Given the description of an element on the screen output the (x, y) to click on. 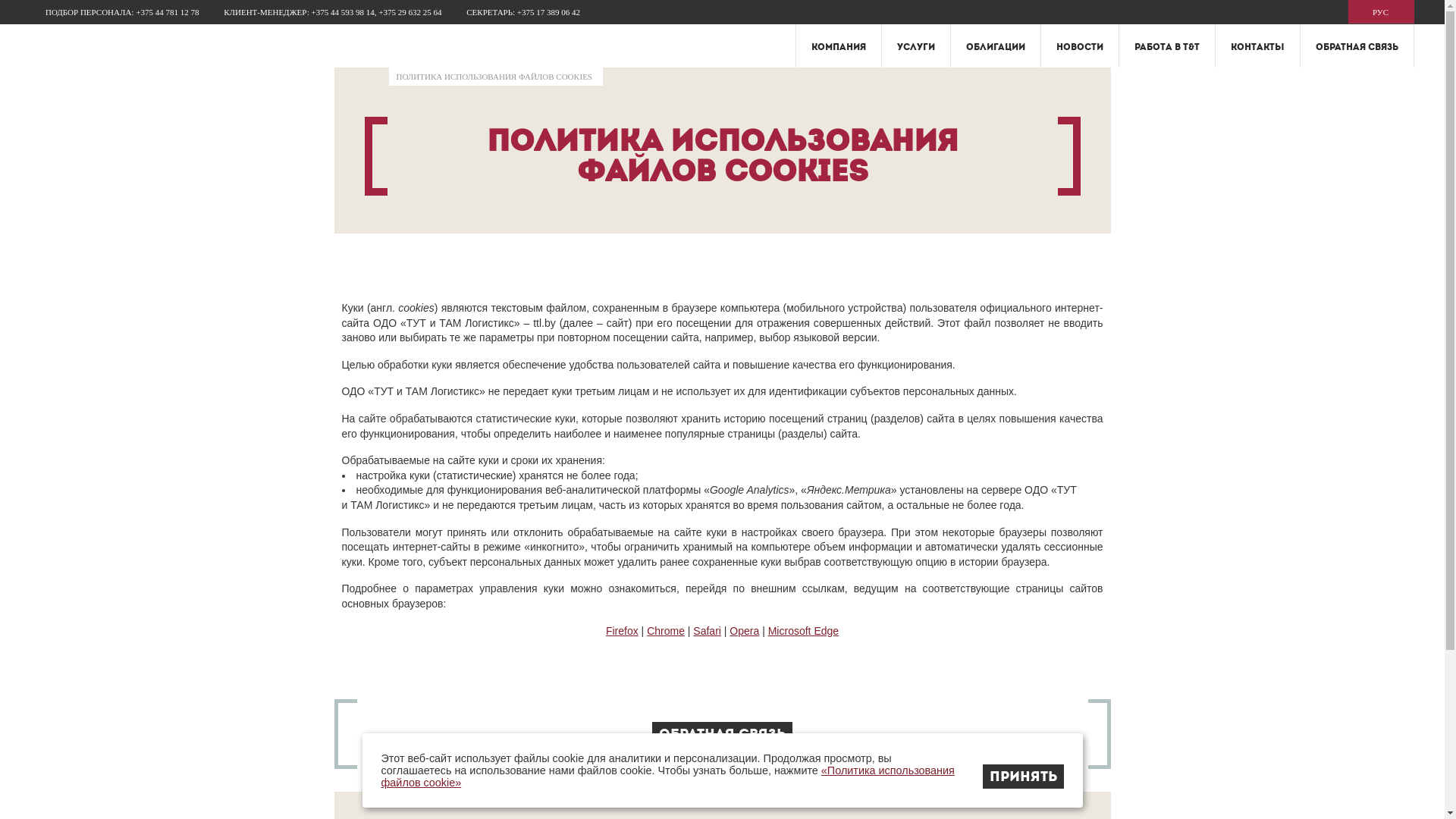
+375 44 781 12 78 Element type: text (166, 11)
+375 29 632 25 64 Element type: text (409, 11)
Microsoft Edge Element type: text (803, 630)
Firefox Element type: text (621, 630)
+375 17 389 06 42 Element type: text (548, 11)
+375 44 593 98 14 Element type: text (342, 11)
Safari Element type: text (707, 630)
Chrome Element type: text (665, 630)
Opera Element type: text (744, 630)
